Given the description of an element on the screen output the (x, y) to click on. 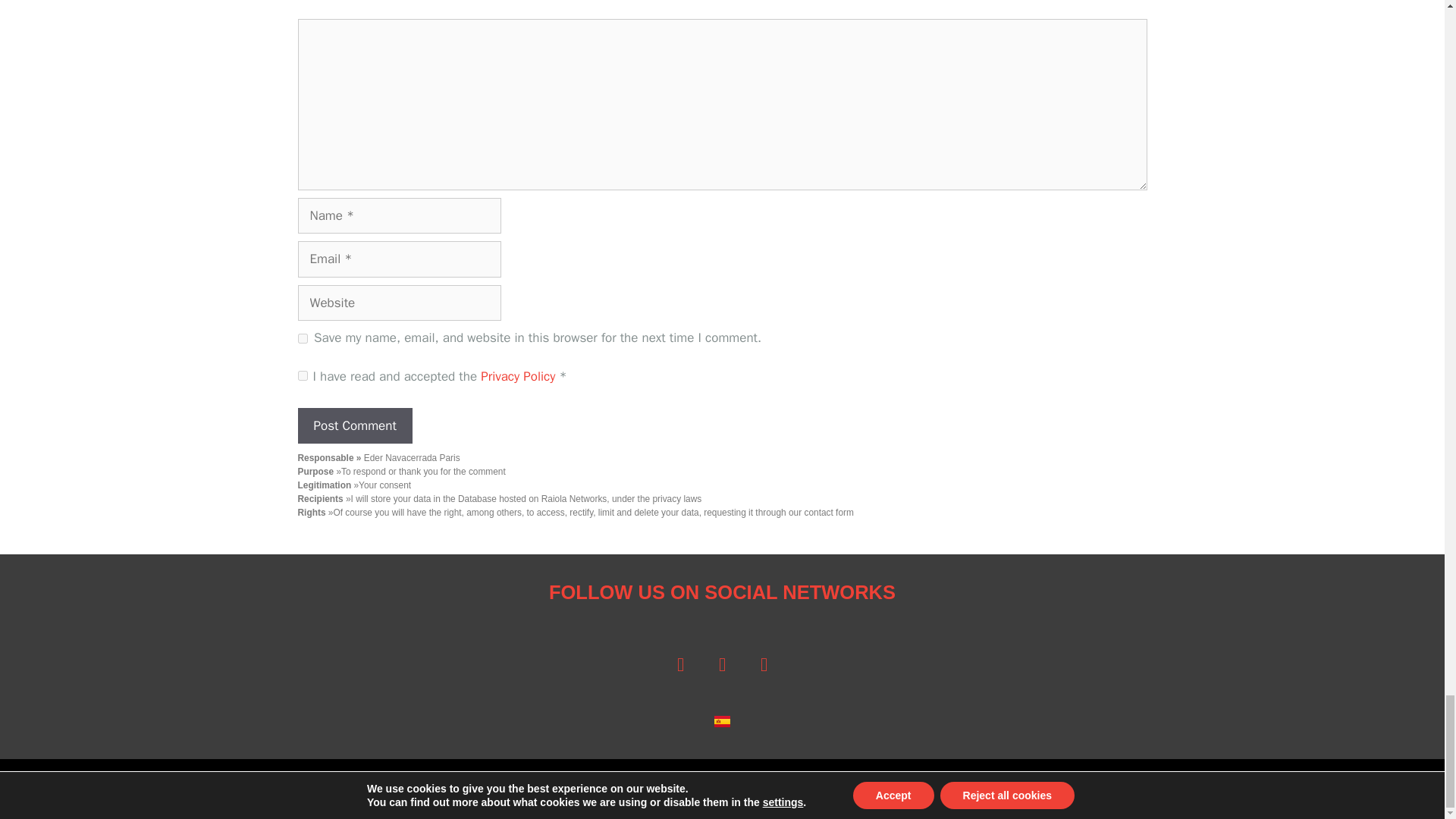
Privacy Policy (519, 376)
yes (302, 338)
Post Comment (354, 425)
policy-key (302, 375)
Post Comment (354, 425)
